Given the description of an element on the screen output the (x, y) to click on. 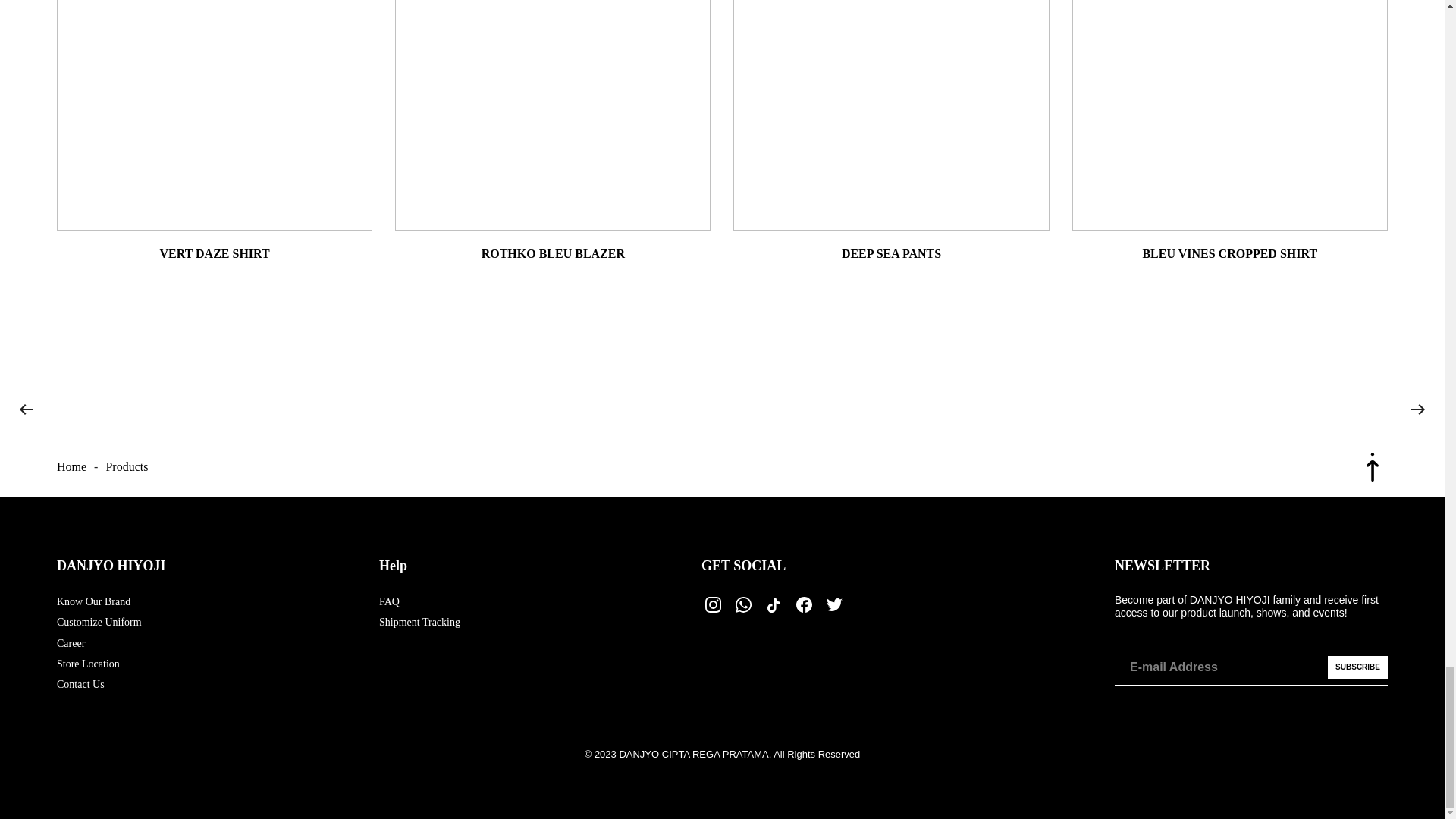
Home (70, 466)
SUBSCRIBE (1357, 667)
Products (126, 466)
